Given the description of an element on the screen output the (x, y) to click on. 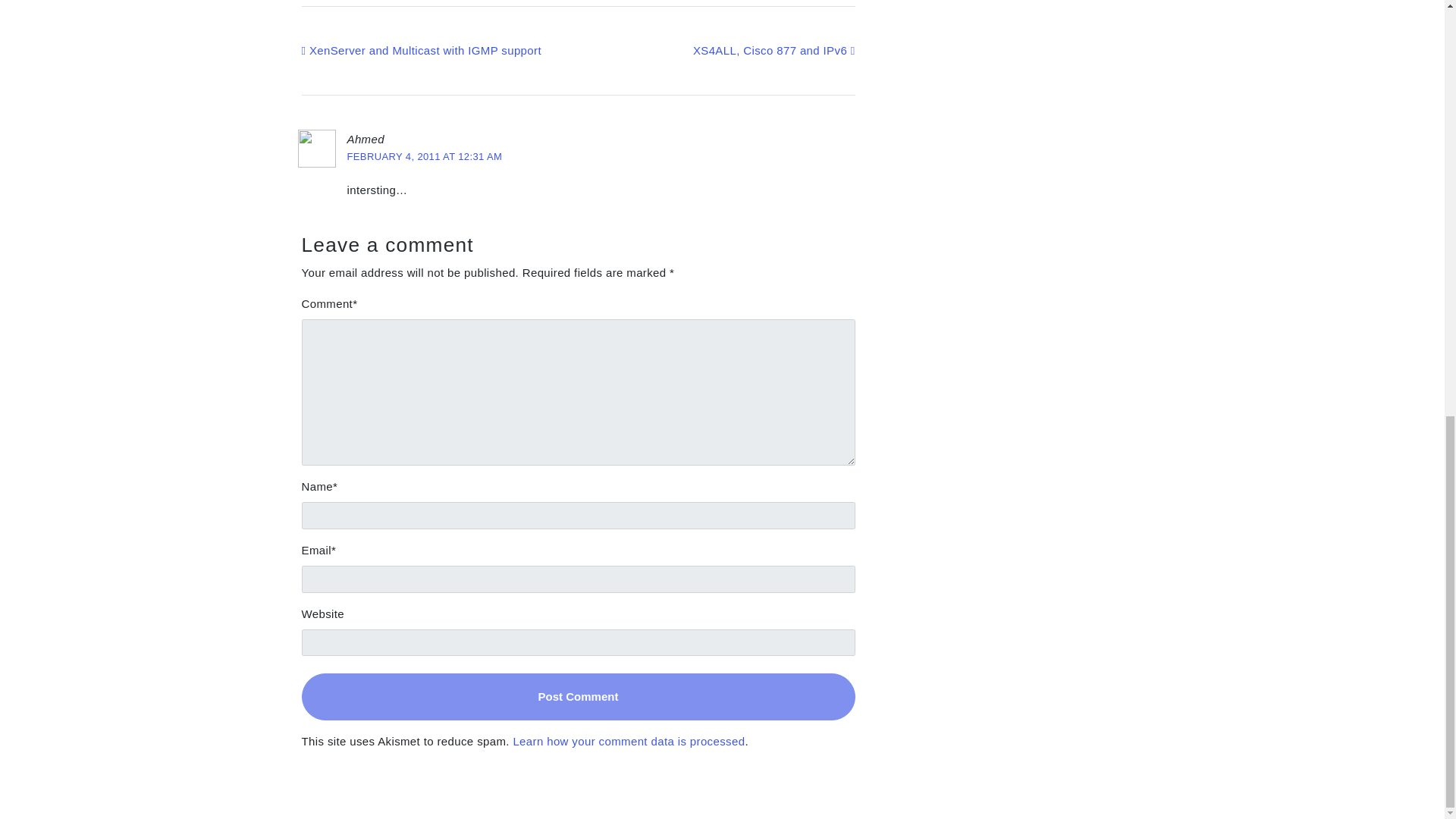
Post Comment (578, 696)
XS4ALL, Cisco 877 and IPv6 (774, 50)
FEBRUARY 4, 2011 AT 12:31 AM (424, 156)
Learn how your comment data is processed (628, 740)
Post Comment (578, 696)
XenServer and Multicast with IGMP support (421, 50)
